Given the description of an element on the screen output the (x, y) to click on. 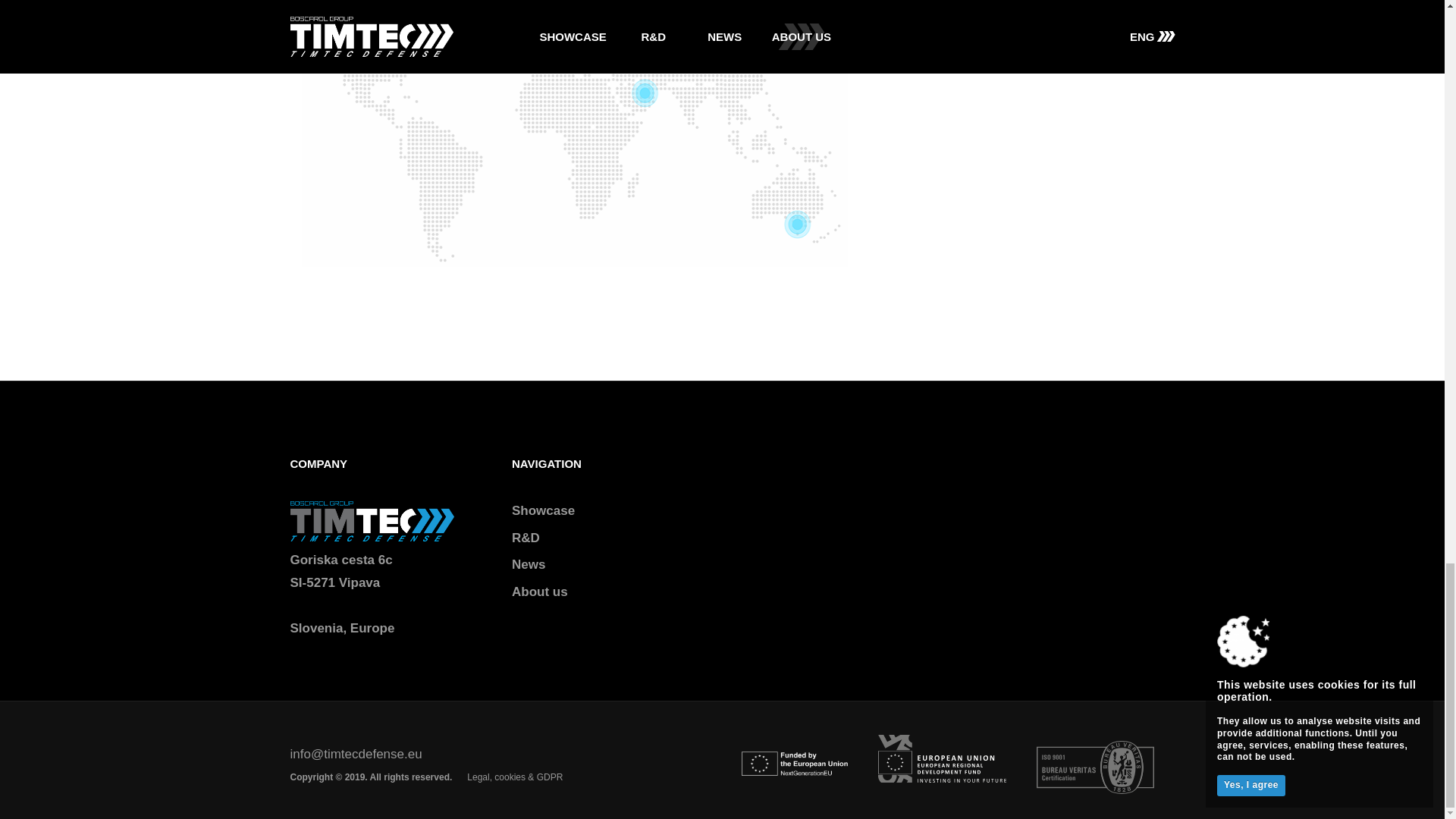
TIMTEC (370, 521)
About us (539, 591)
News (528, 564)
Showcase (543, 510)
